Given the description of an element on the screen output the (x, y) to click on. 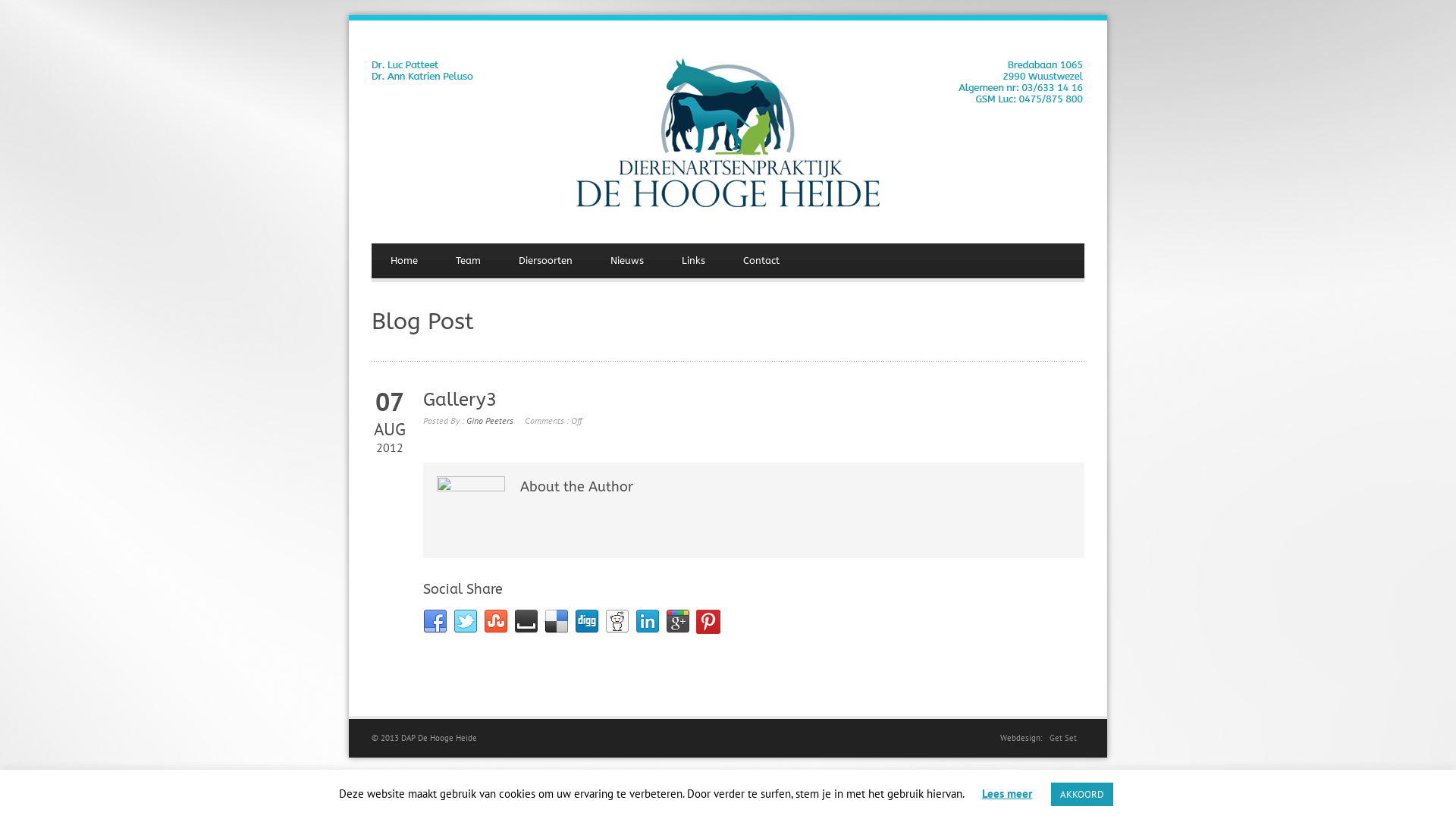
Nieuws Element type: text (626, 260)
Links Element type: text (693, 260)
Lees meer Element type: text (1007, 793)
Team Element type: text (467, 260)
Gino Peeters Element type: text (489, 420)
AKKOORD Element type: text (1082, 794)
Get Set Element type: text (1062, 737)
Home Element type: text (403, 260)
Diersoorten Element type: text (545, 260)
Contact Element type: text (761, 260)
Gallery3 Element type: text (459, 399)
